Given the description of an element on the screen output the (x, y) to click on. 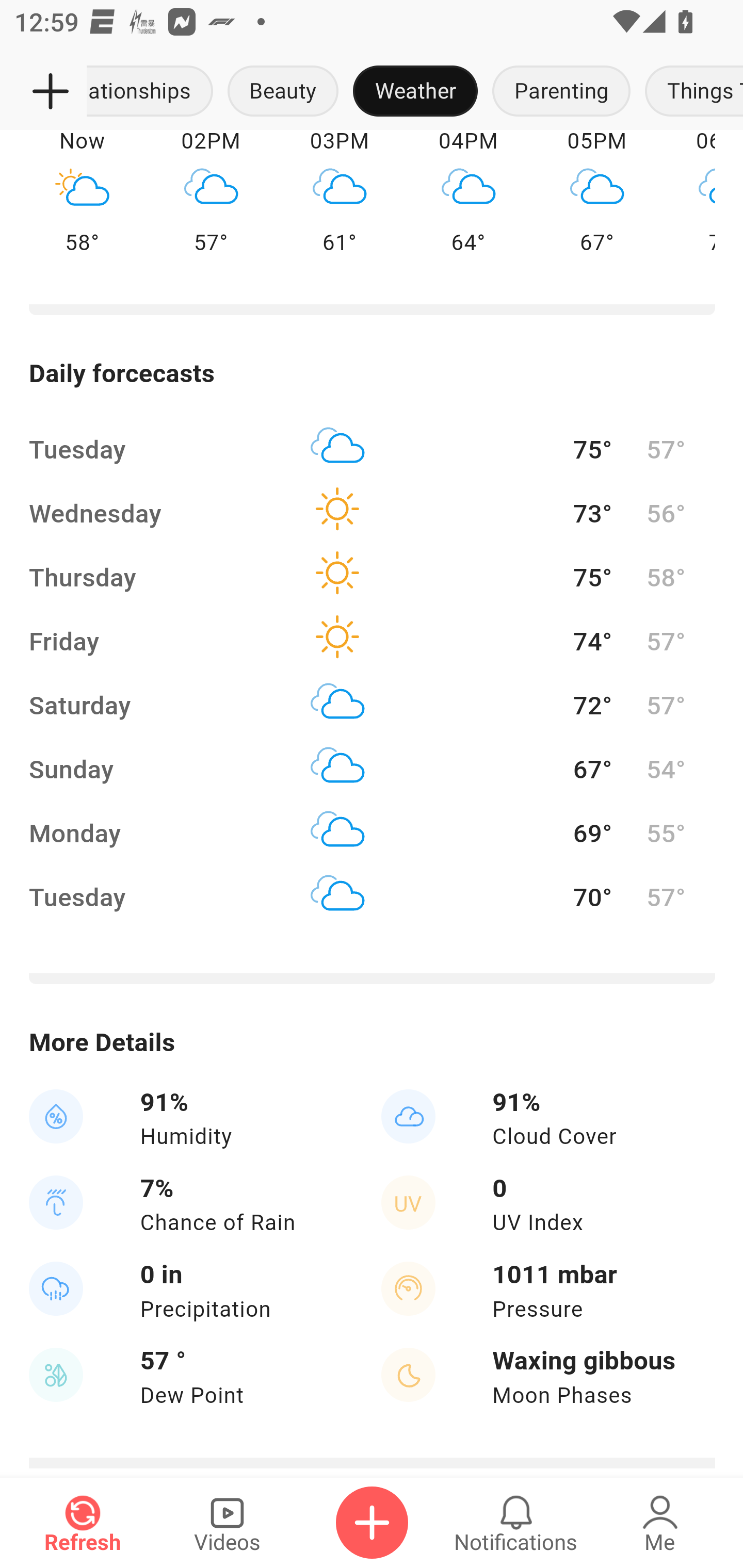
Relationships (153, 91)
Beauty (282, 91)
Weather (415, 91)
Parenting (561, 91)
Things To Do (690, 91)
Videos (227, 1522)
Notifications (516, 1522)
Me (659, 1522)
